Given the description of an element on the screen output the (x, y) to click on. 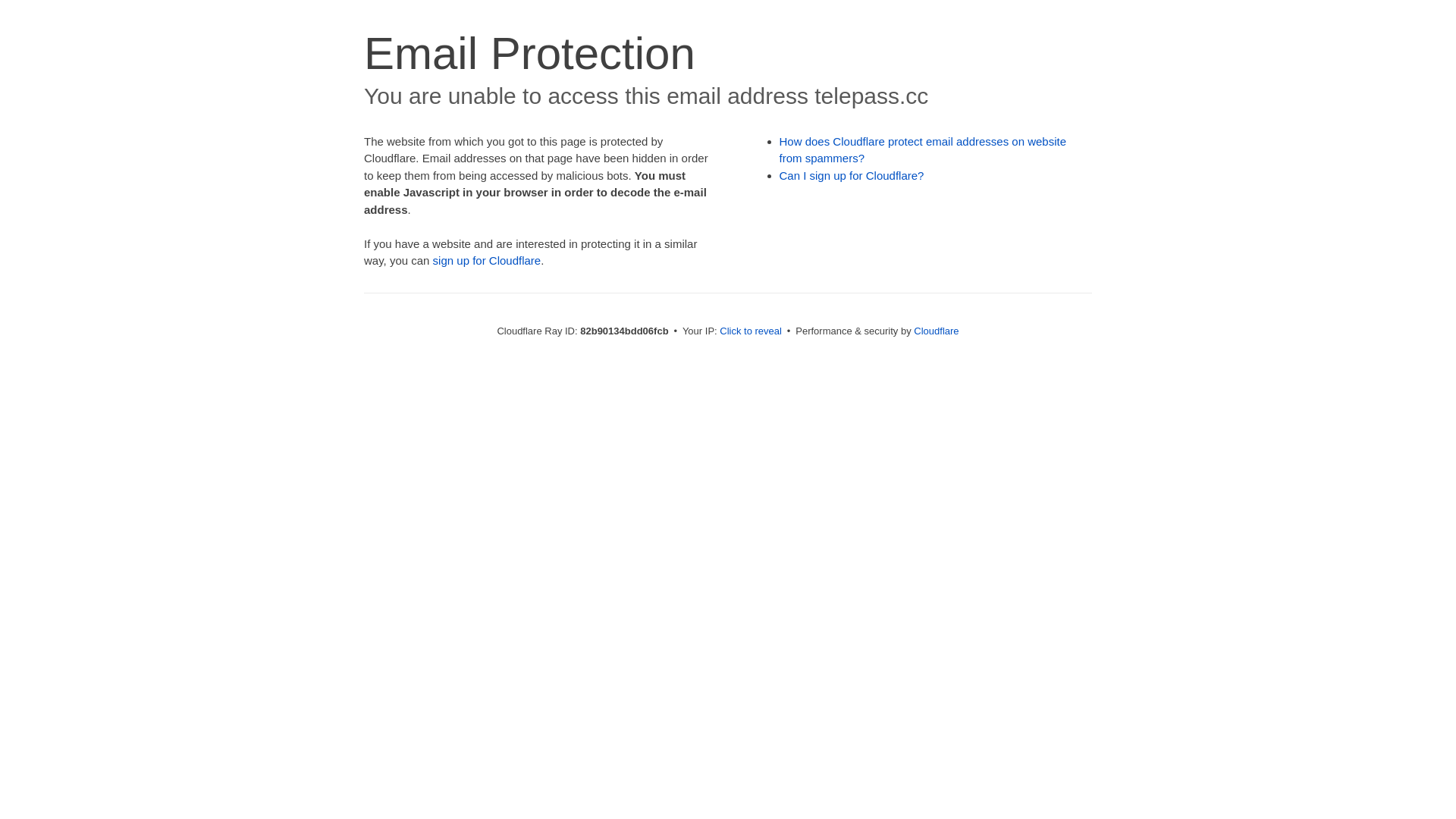
Click to reveal Element type: text (750, 330)
Cloudflare Element type: text (935, 330)
sign up for Cloudflare Element type: text (487, 260)
Can I sign up for Cloudflare? Element type: text (851, 175)
